Given the description of an element on the screen output the (x, y) to click on. 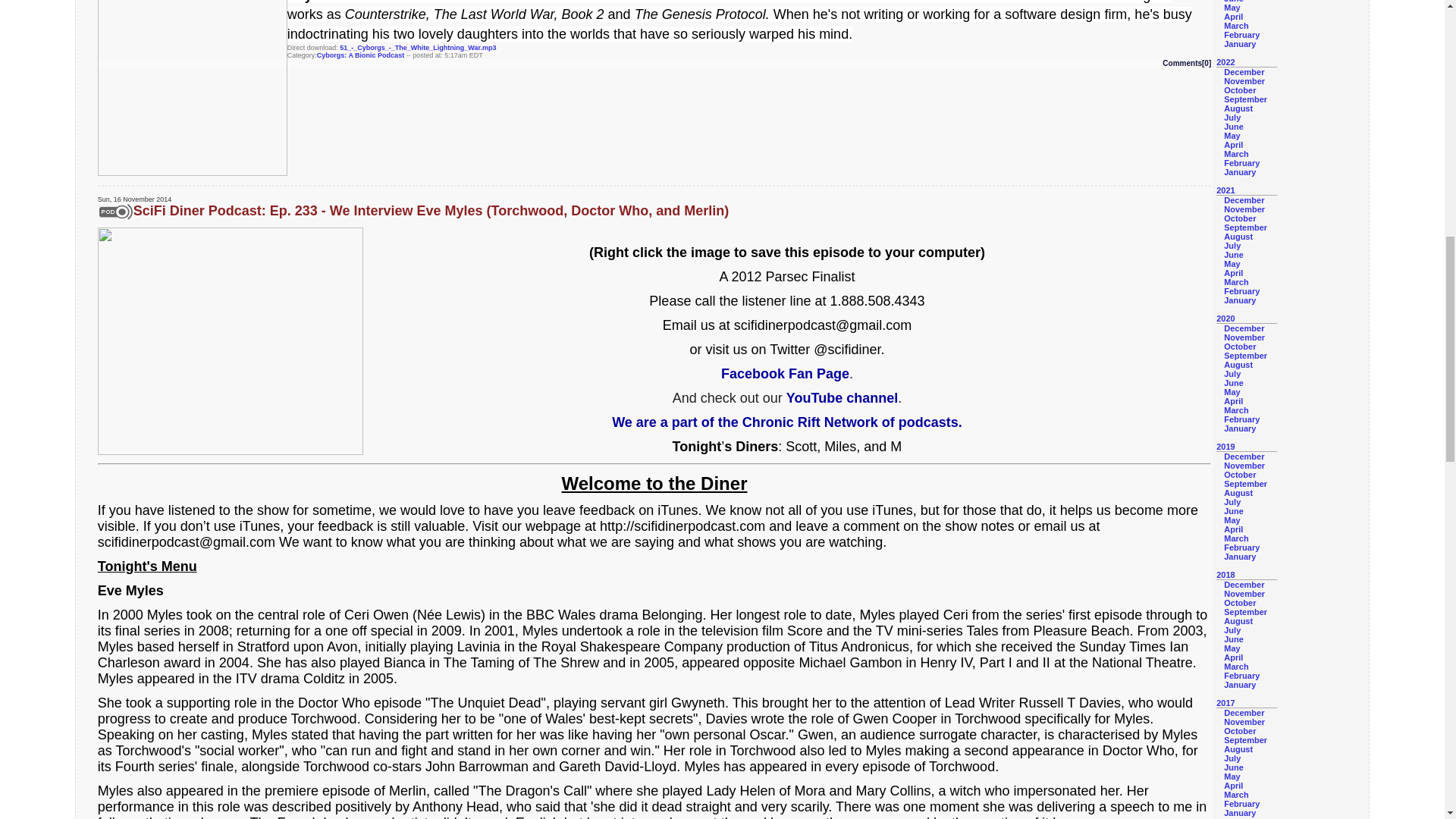
undefined (191, 88)
